Given the description of an element on the screen output the (x, y) to click on. 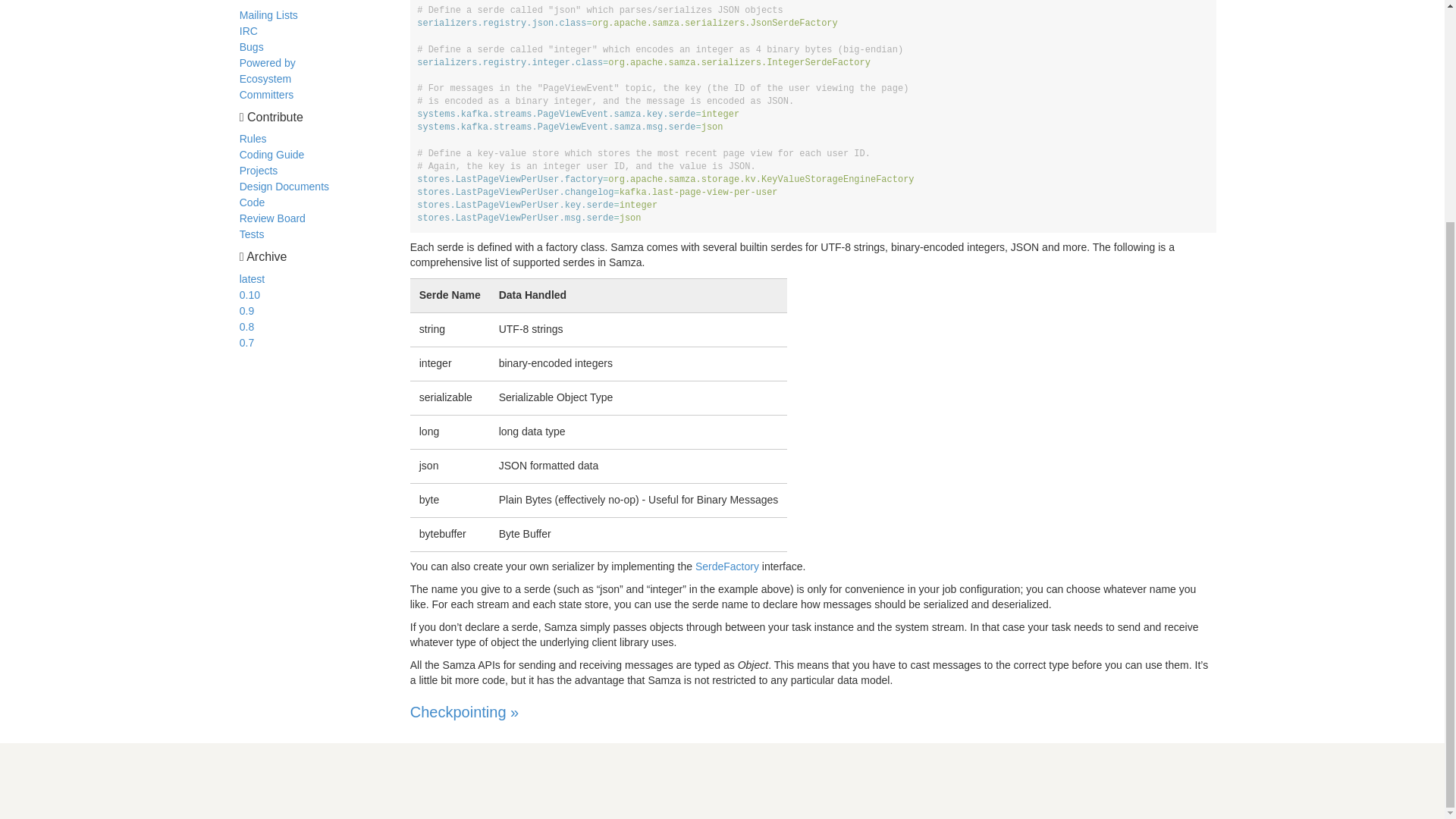
IRC (248, 30)
Code (252, 202)
Projects (259, 170)
Coding Guide (272, 154)
Mailing Lists (269, 15)
0.10 (250, 295)
Ecosystem (265, 78)
SerdeFactory (726, 566)
Design Documents (284, 186)
Bugs (251, 46)
0.7 (246, 342)
0.8 (246, 326)
Tests (252, 234)
Rules (253, 138)
latest (252, 278)
